Given the description of an element on the screen output the (x, y) to click on. 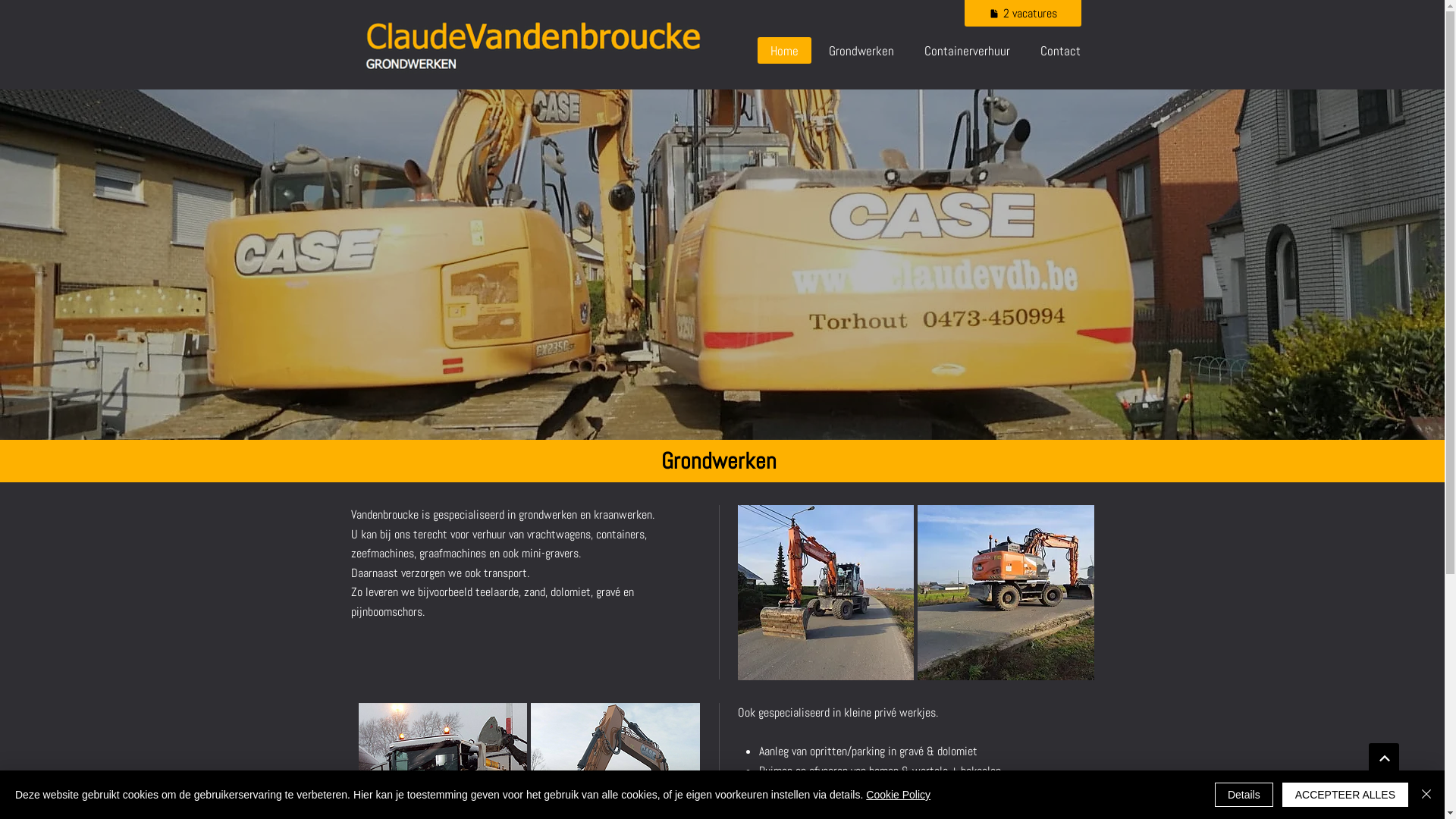
Contact Element type: text (1059, 50)
Grondwerken Element type: text (860, 50)
Cookie Policy Element type: text (898, 794)
Home Element type: text (783, 50)
ACCEPTEER ALLES Element type: text (1345, 794)
2 vacatures Element type: text (1022, 13)
Details Element type: text (1243, 794)
Containerverhuur Element type: text (966, 50)
